Given the description of an element on the screen output the (x, y) to click on. 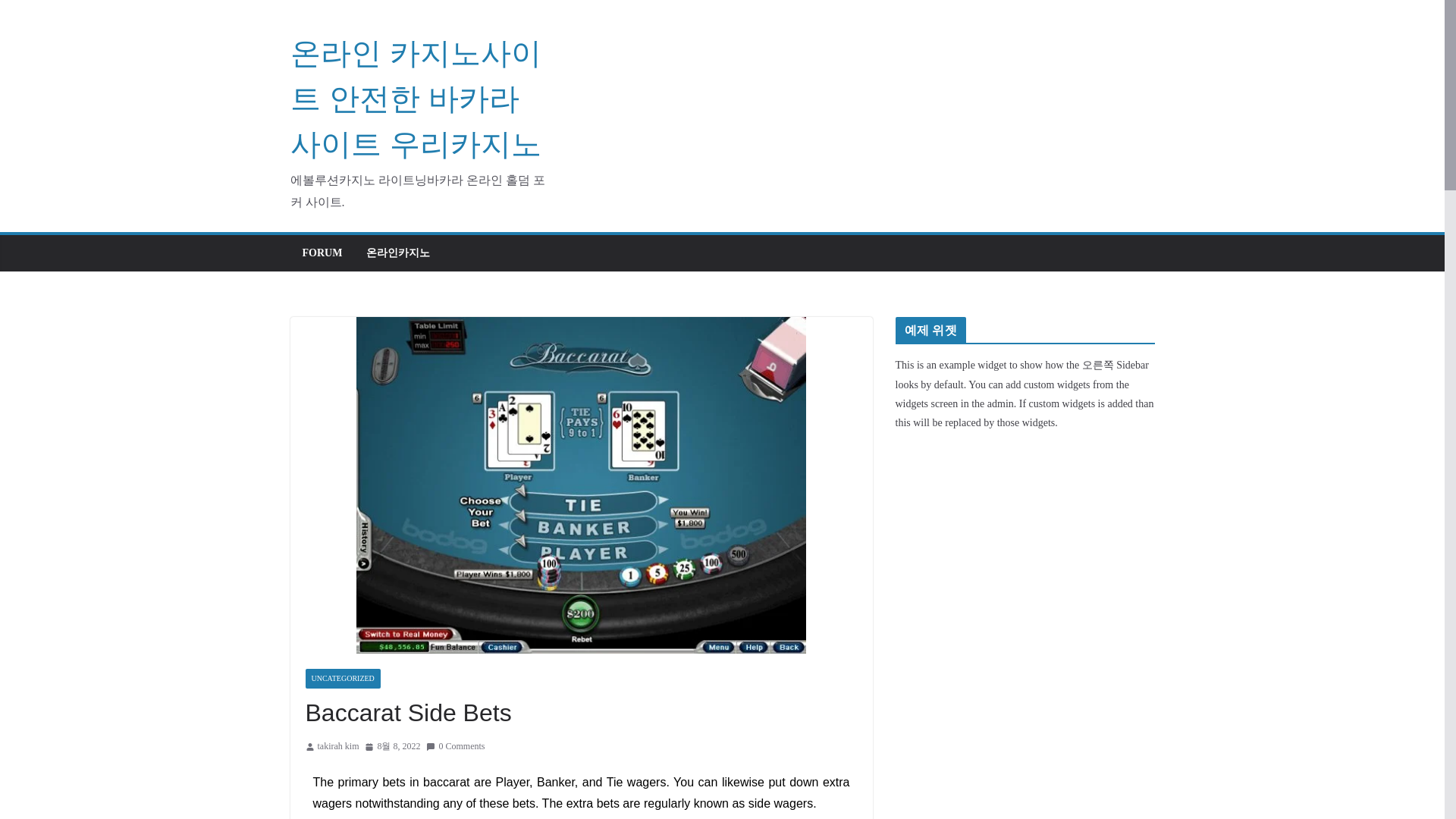
UNCATEGORIZED (342, 678)
0 Comments (455, 746)
takirah kim (337, 746)
FORUM (321, 252)
takirah kim (337, 746)
